Given the description of an element on the screen output the (x, y) to click on. 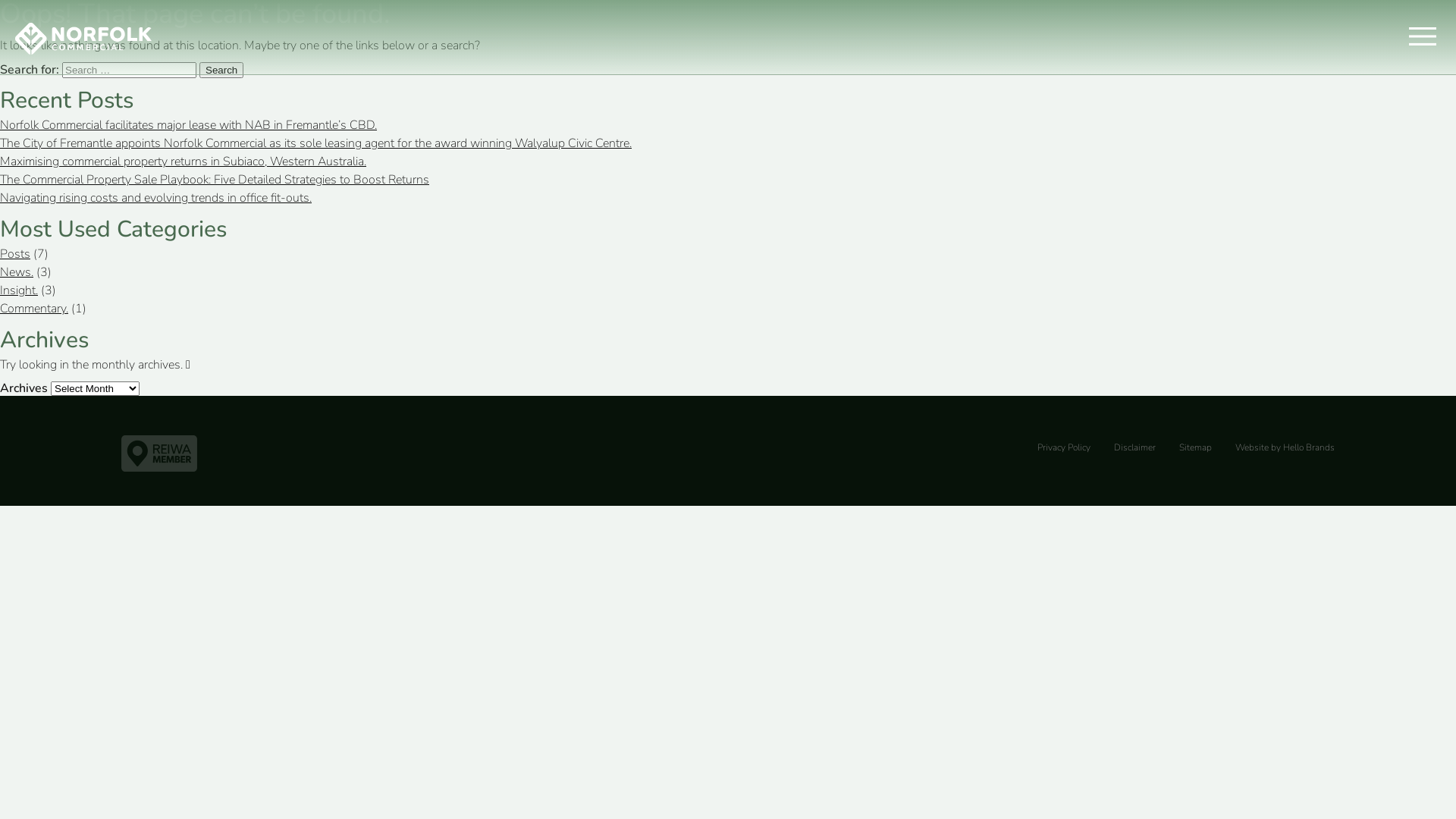
Search Element type: text (221, 70)
Commentary. Element type: text (34, 308)
Disclaimer Element type: text (1134, 447)
Posts Element type: text (15, 253)
Privacy Policy Element type: text (1063, 447)
Sitemap Element type: text (1195, 447)
News. Element type: text (16, 271)
Insight. Element type: text (18, 290)
Website by Hello Brands Element type: text (1284, 447)
